Given the description of an element on the screen output the (x, y) to click on. 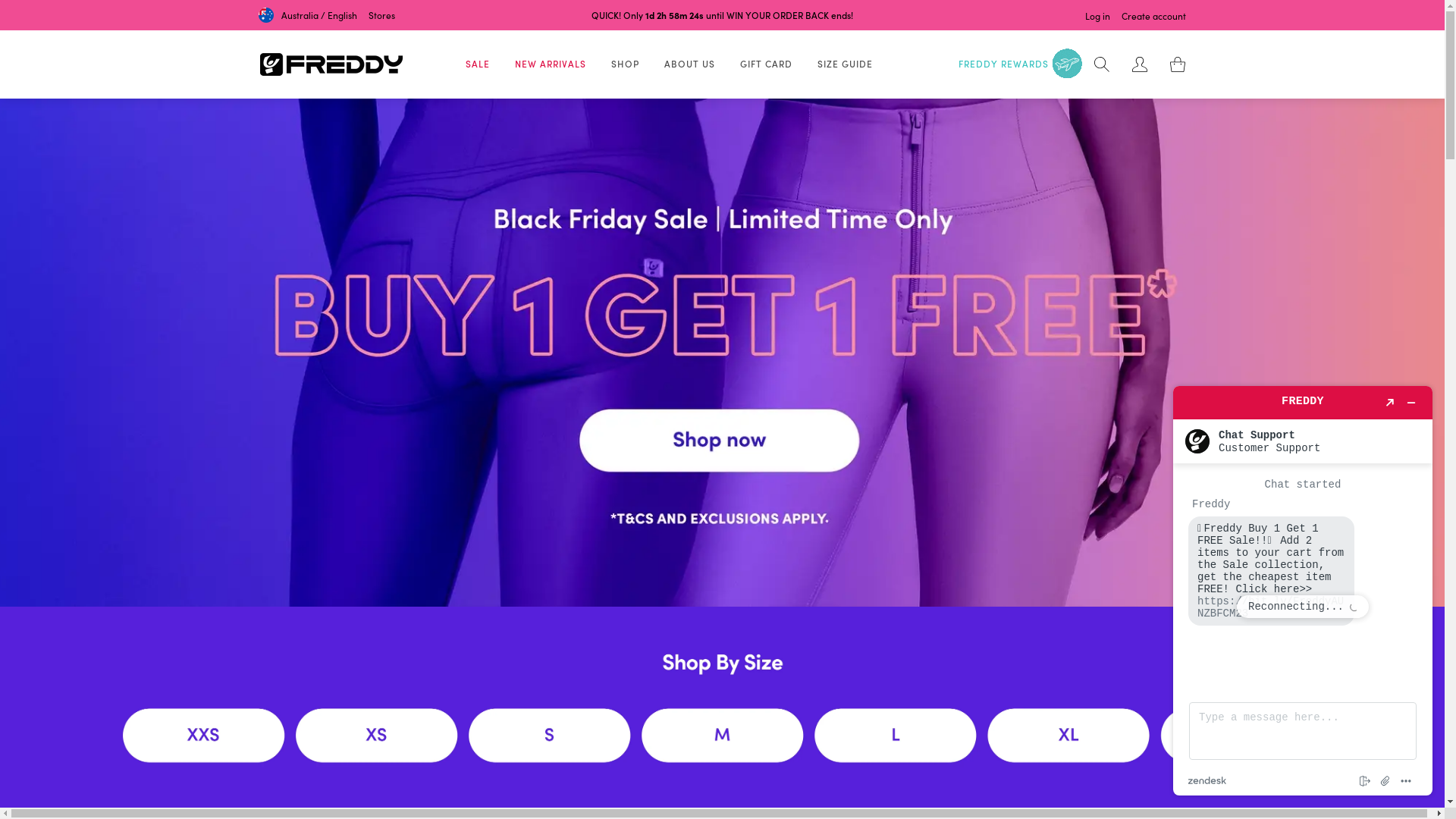
QUICK! Only 1d 2h 58m 37s until WIN YOUR ORDER BACK ends! Element type: text (722, 14)
Submit Element type: text (24, 8)
Log in Element type: text (1097, 15)
Stores Element type: text (381, 15)
Find more information here Element type: hover (1302, 590)
SIZE GUIDE Element type: text (844, 64)
SHOP Element type: text (625, 64)
SALE Element type: text (477, 64)
GIFT CARD Element type: text (766, 64)
Australia / English Element type: text (307, 14)
Create account Element type: text (1153, 15)
ABOUT US Element type: text (689, 64)
FREDDY REWARDS Element type: text (1022, 64)
NEW ARRIVALS Element type: text (549, 64)
